Given the description of an element on the screen output the (x, y) to click on. 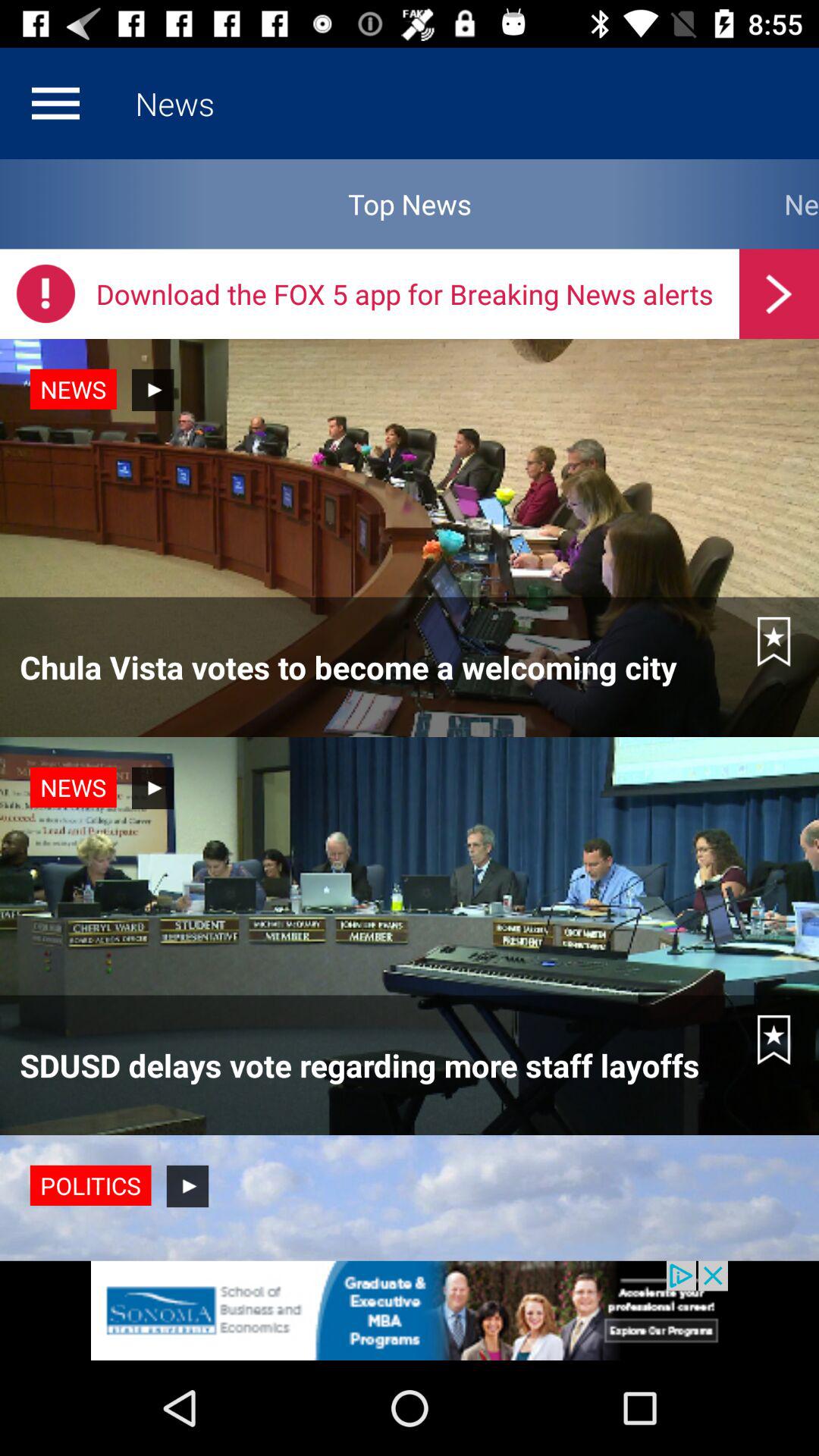
open advertisement (409, 1310)
